Given the description of an element on the screen output the (x, y) to click on. 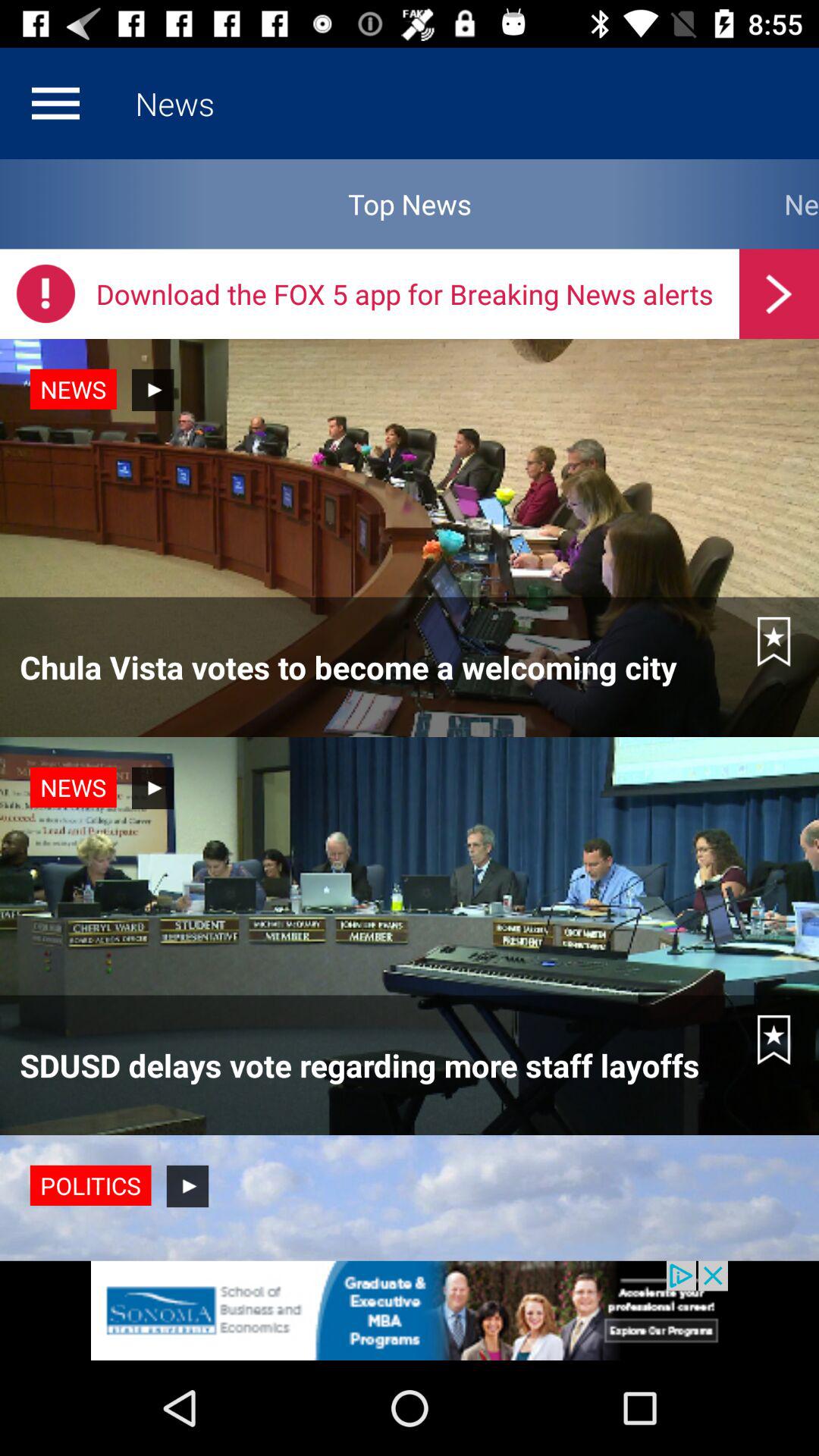
open advertisement (409, 1310)
